Given the description of an element on the screen output the (x, y) to click on. 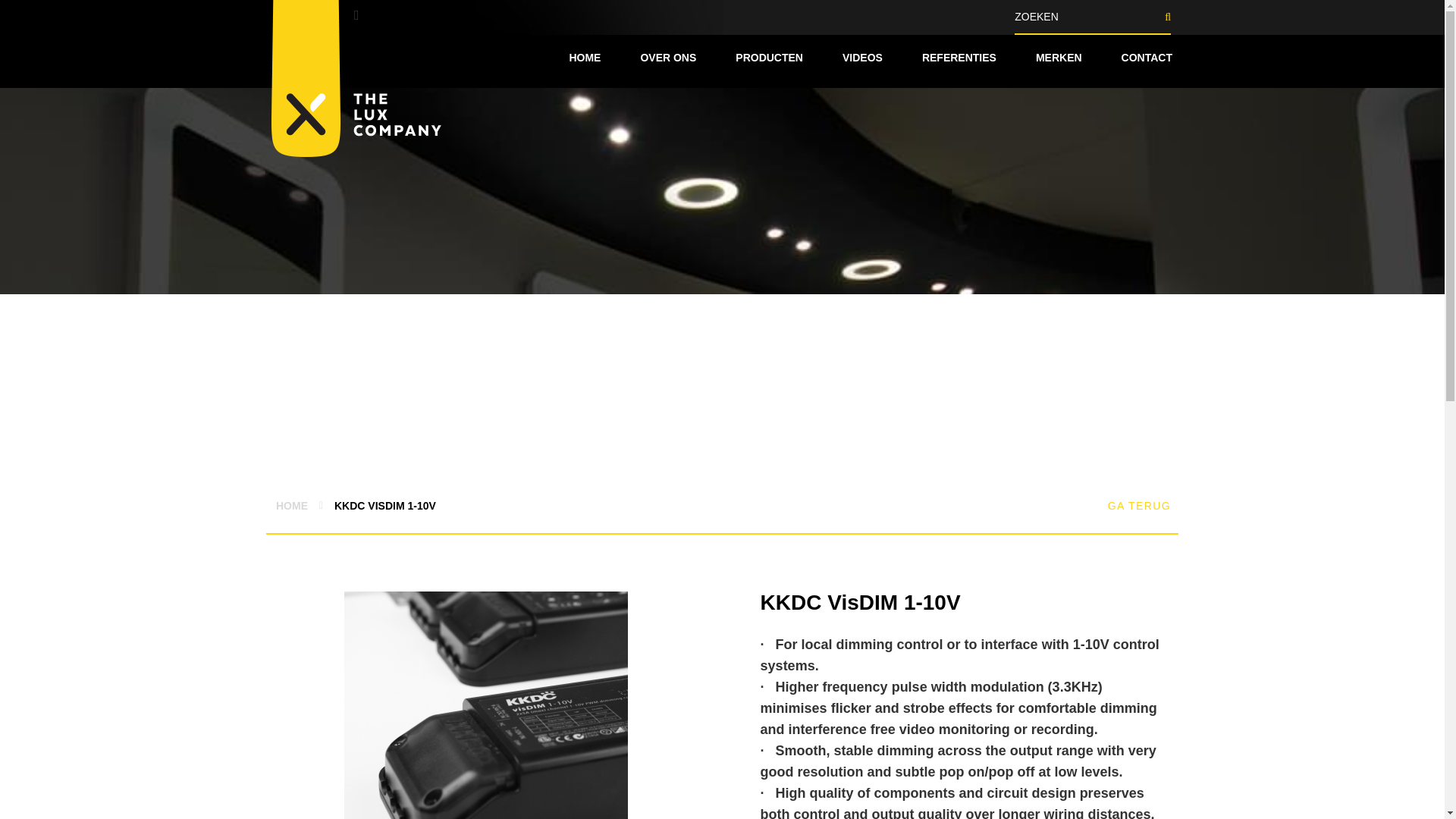
VIDEOS (862, 57)
MERKEN (1058, 57)
CONTACT (1146, 57)
OVER ONS (667, 57)
PRODUCTEN (769, 57)
GA TERUG (1139, 505)
HOME (291, 504)
REFERENTIES (958, 57)
HOME (584, 57)
